Given the description of an element on the screen output the (x, y) to click on. 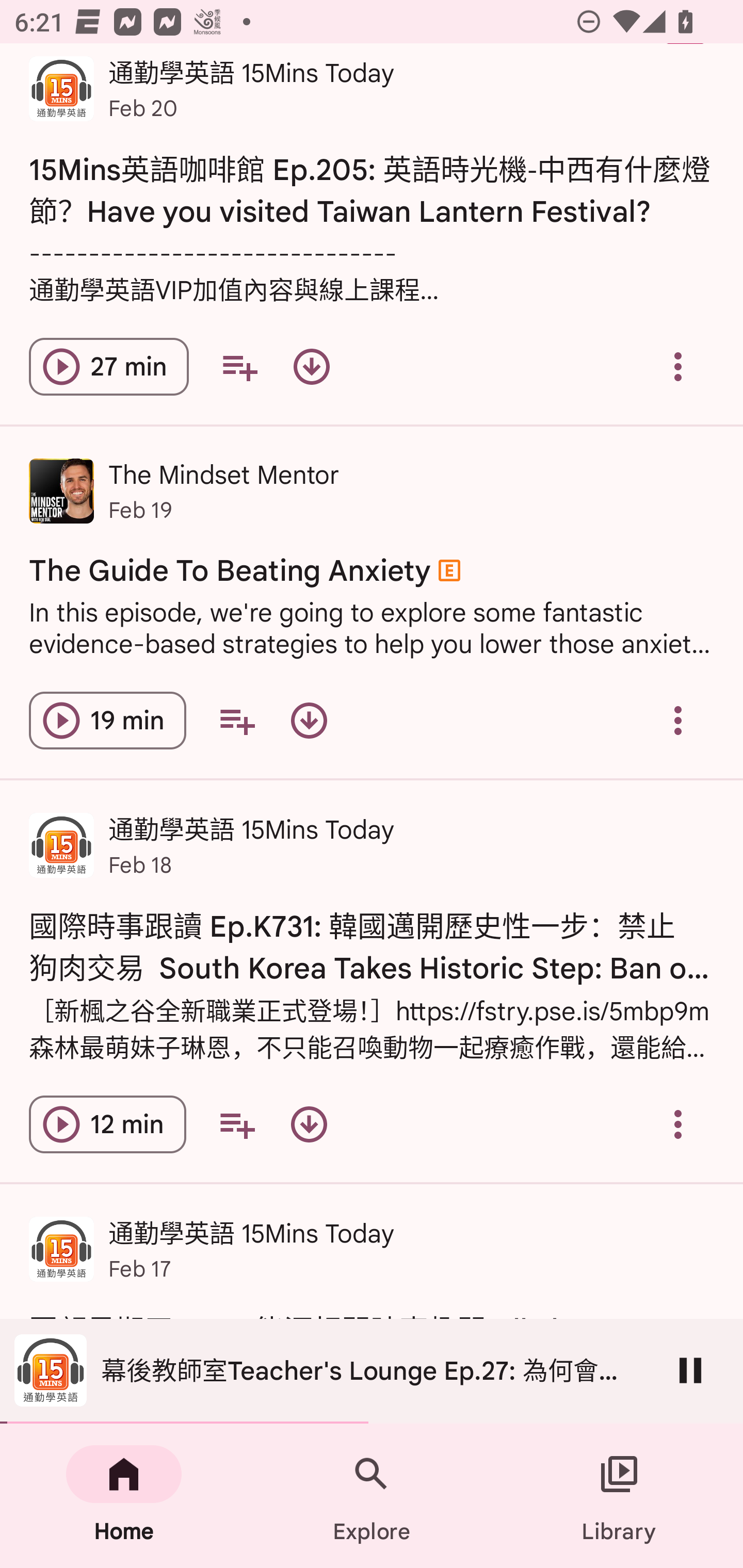
Add to your queue (239, 366)
Download episode (311, 366)
Overflow menu (677, 366)
Play episode The Guide To Beating Anxiety 19 min (107, 720)
Add to your queue (236, 720)
Download episode (308, 720)
Overflow menu (677, 720)
Add to your queue (236, 1124)
Download episode (308, 1124)
Overflow menu (677, 1124)
Pause (690, 1370)
Explore (371, 1495)
Library (619, 1495)
